Given the description of an element on the screen output the (x, y) to click on. 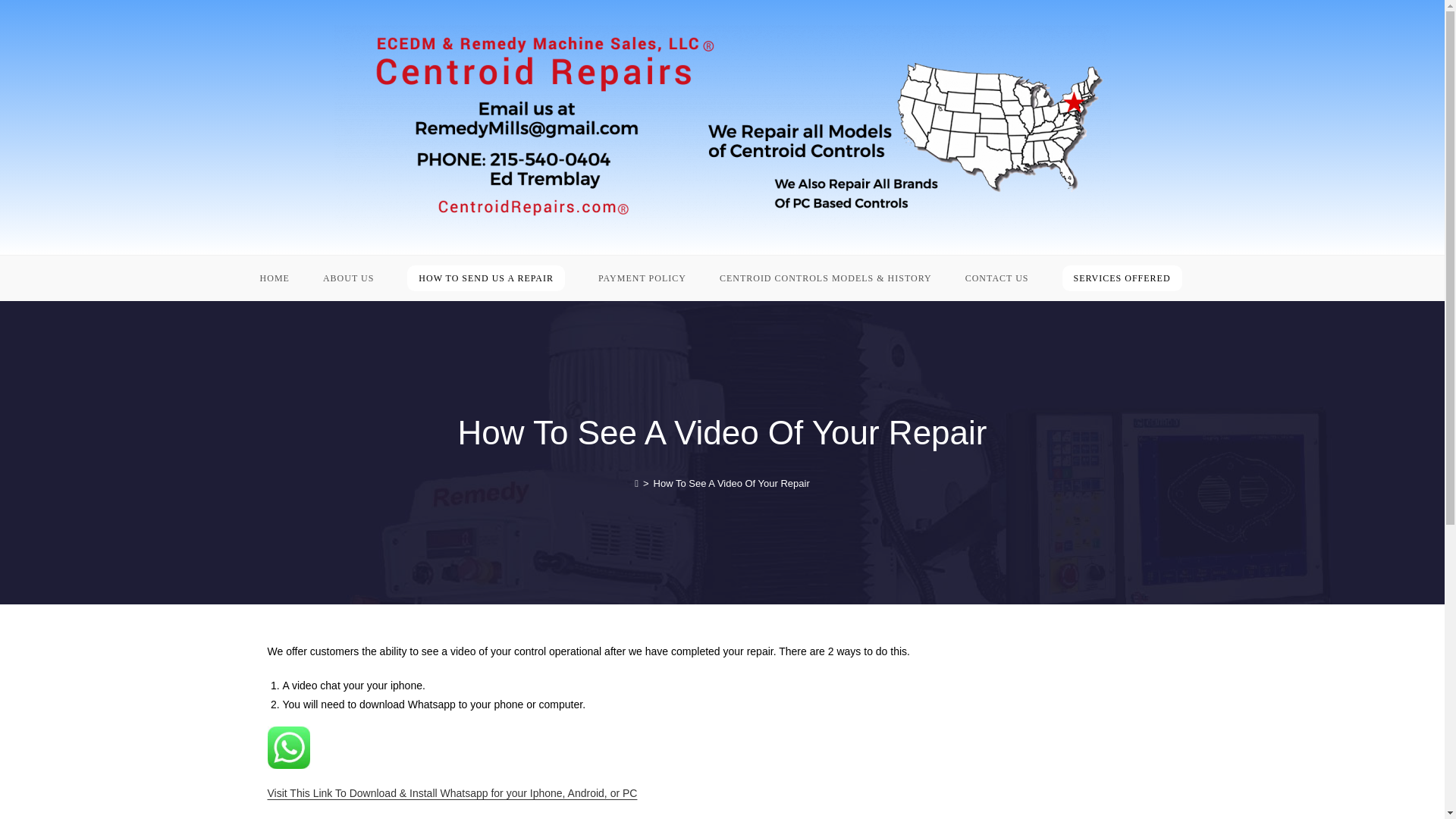
PAYMENT POLICY (641, 278)
HOW TO SEND US A REPAIR (485, 278)
CONTACT US (997, 278)
How To See A Video Of Your Repair (731, 482)
ABOUT US (347, 278)
SERVICES OFFERED (1121, 278)
HOME (274, 278)
